Given the description of an element on the screen output the (x, y) to click on. 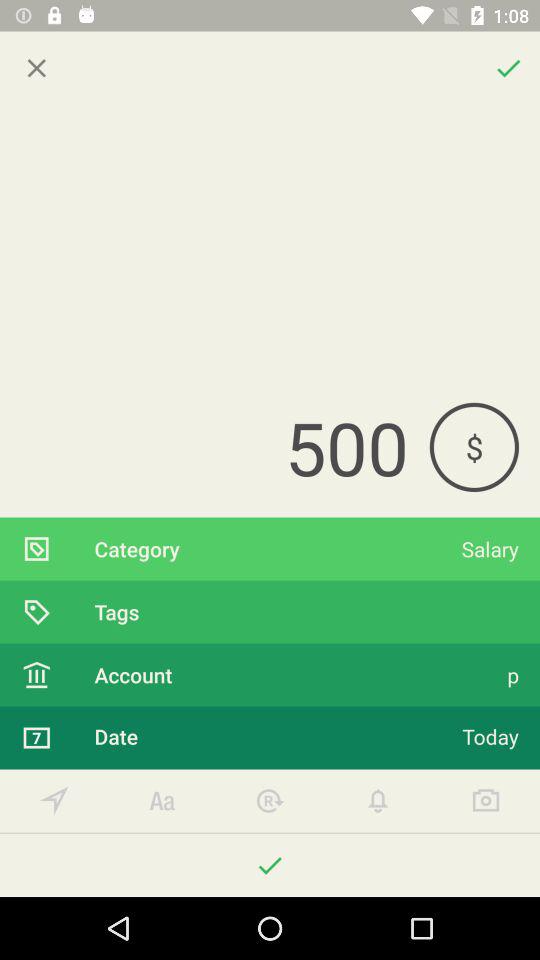
open item at the top left corner (36, 68)
